Given the description of an element on the screen output the (x, y) to click on. 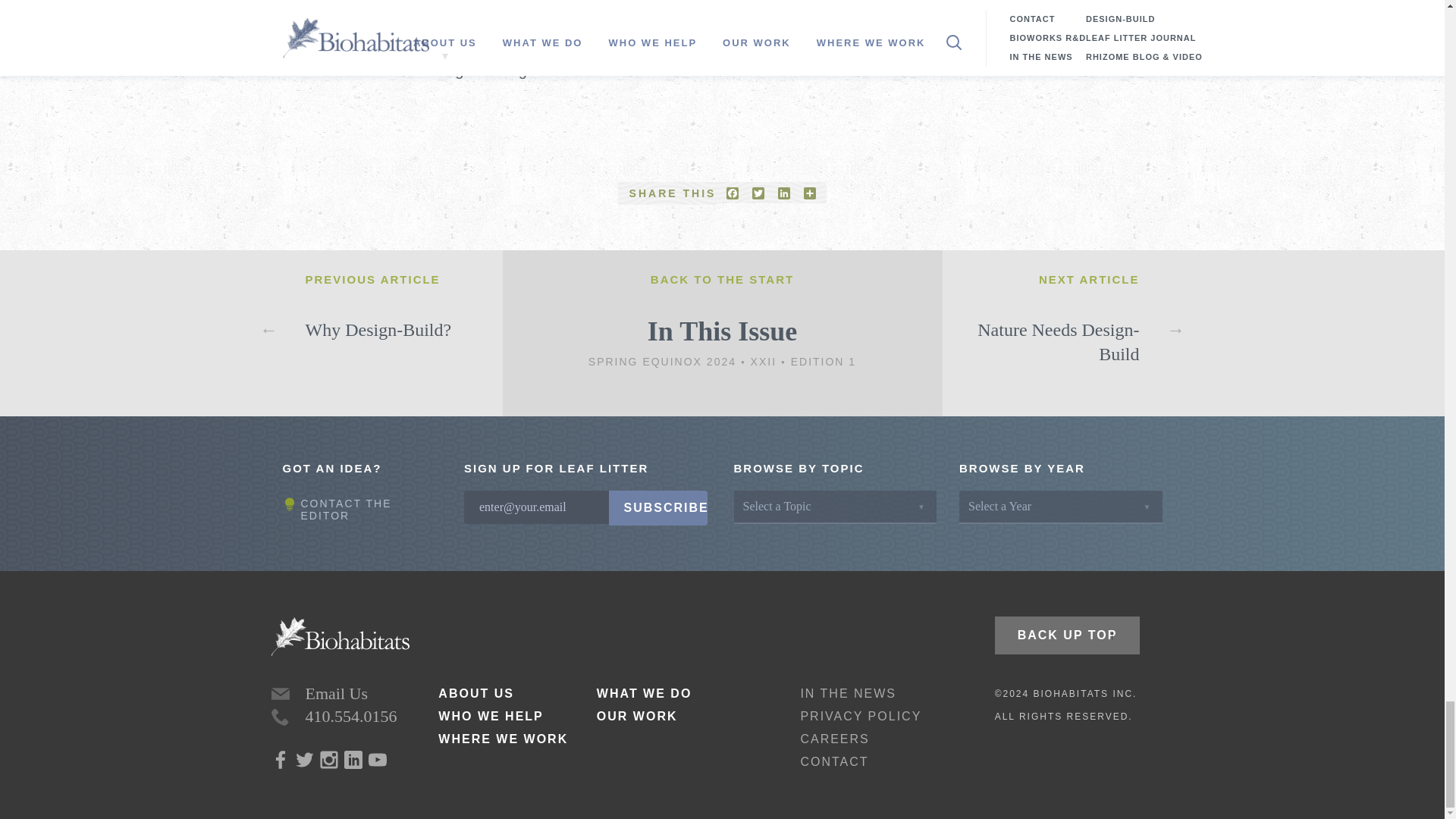
- - (279, 716)
Twitter (758, 193)
SUBSCRIBE (657, 507)
Facebook (732, 193)
LinkedIn (783, 193)
